Given the description of an element on the screen output the (x, y) to click on. 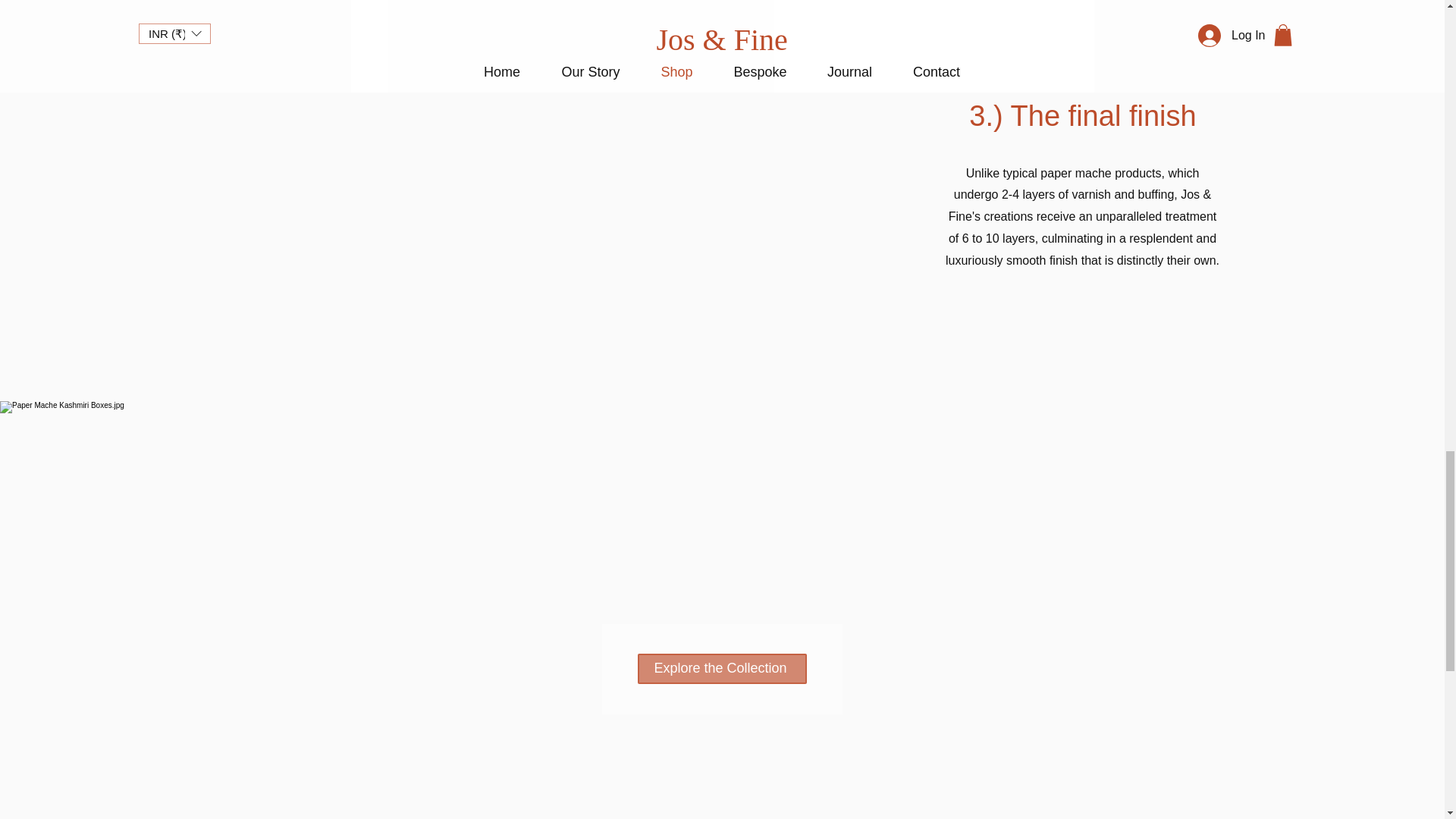
Explore the Collection (721, 668)
